Given the description of an element on the screen output the (x, y) to click on. 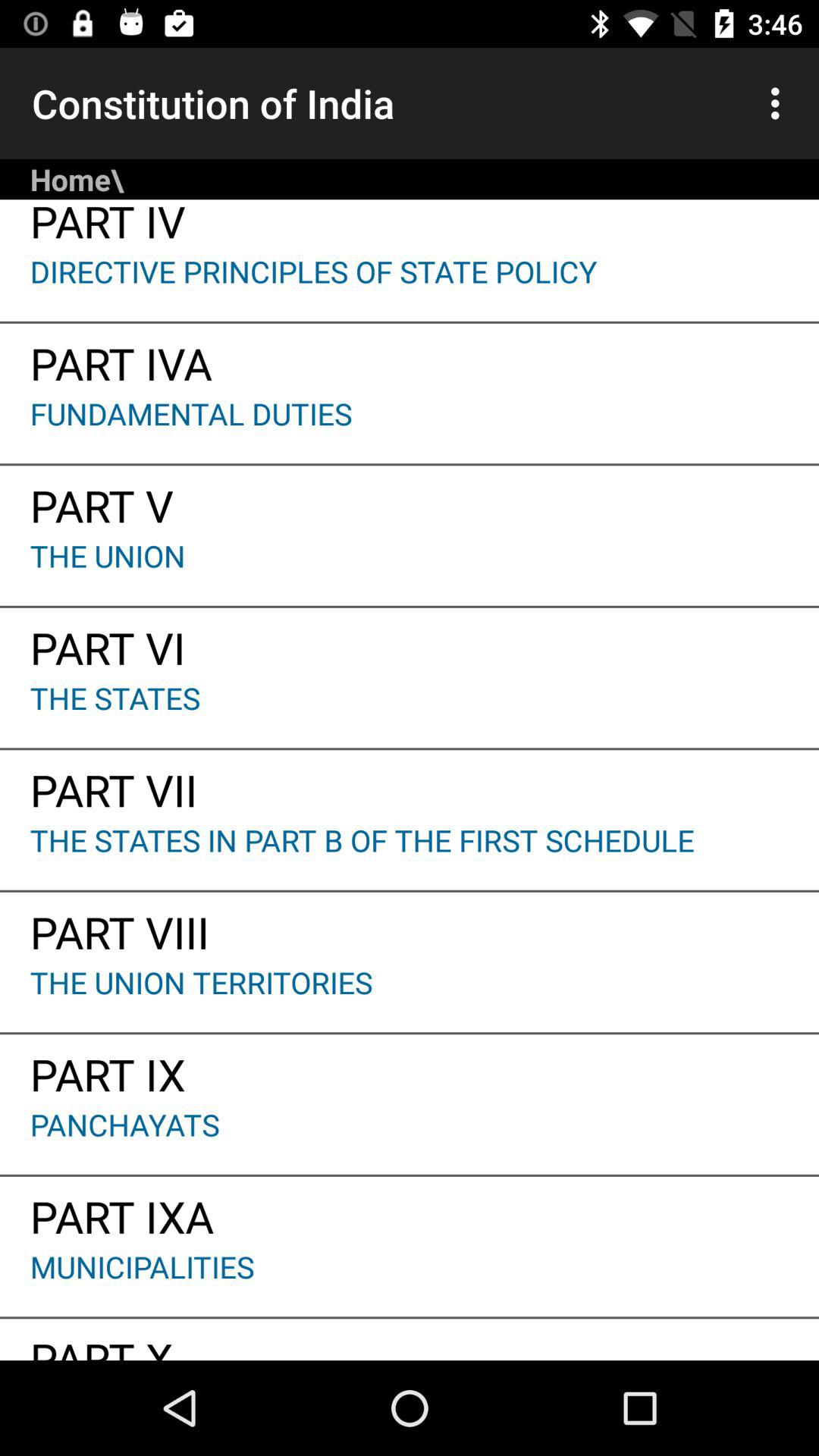
turn on fundamental duties app (409, 428)
